Given the description of an element on the screen output the (x, y) to click on. 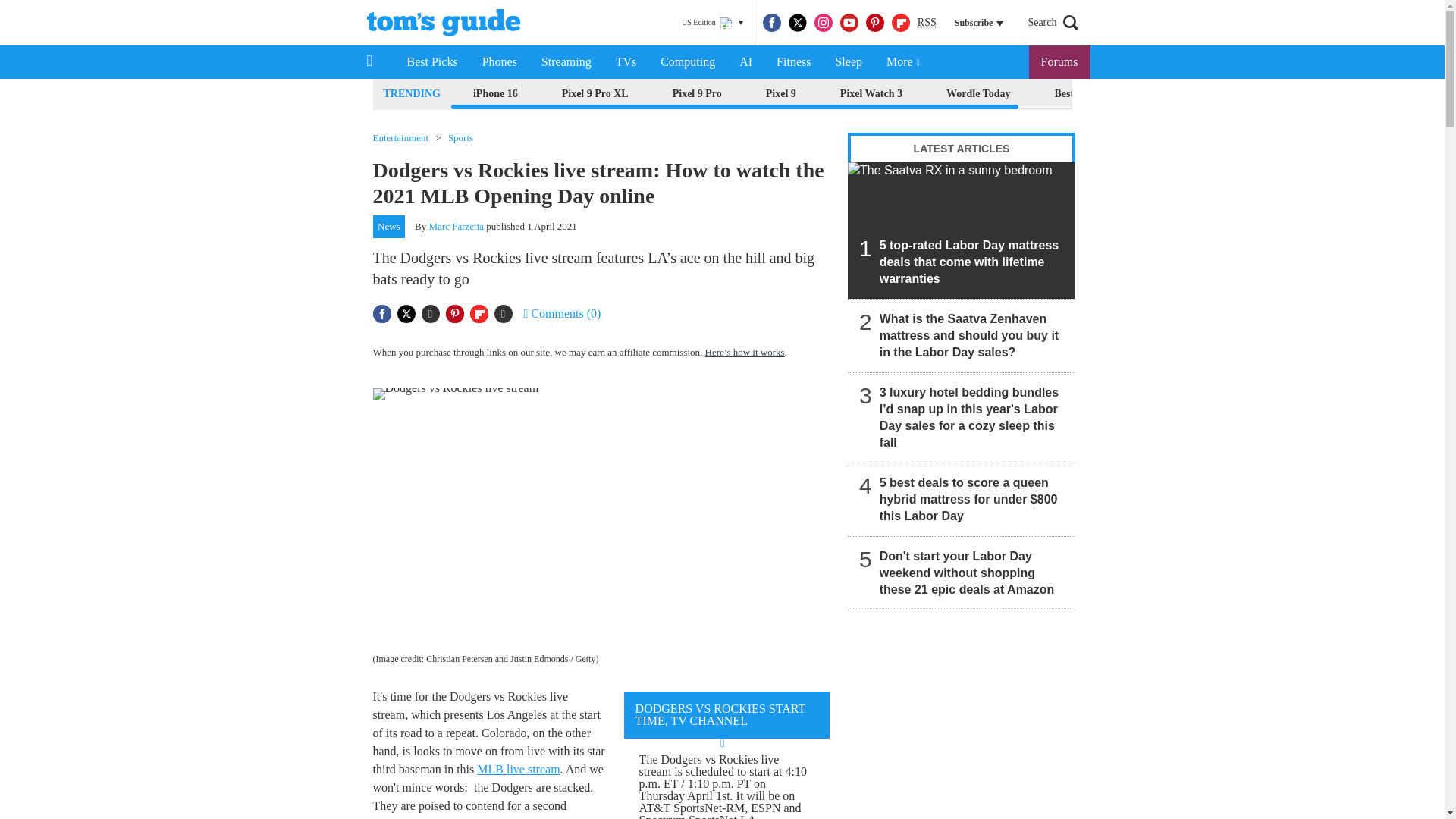
TVs (626, 61)
Really Simple Syndication (926, 21)
Fitness (793, 61)
Phones (499, 61)
Sleep (848, 61)
US Edition (712, 22)
Computing (686, 61)
Best Picks (431, 61)
RSS (926, 22)
